Given the description of an element on the screen output the (x, y) to click on. 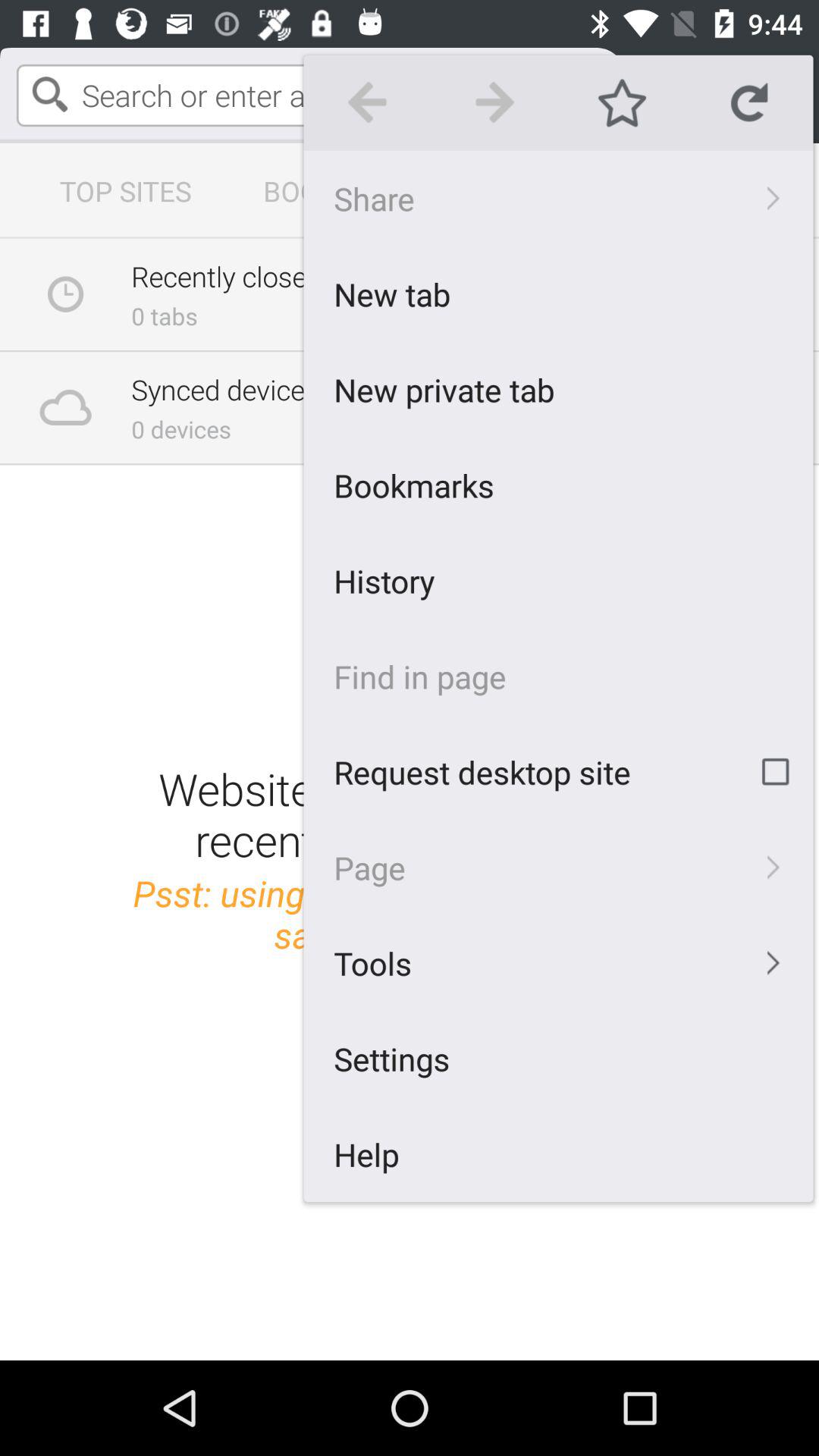
launch icon above the share (621, 102)
